Given the description of an element on the screen output the (x, y) to click on. 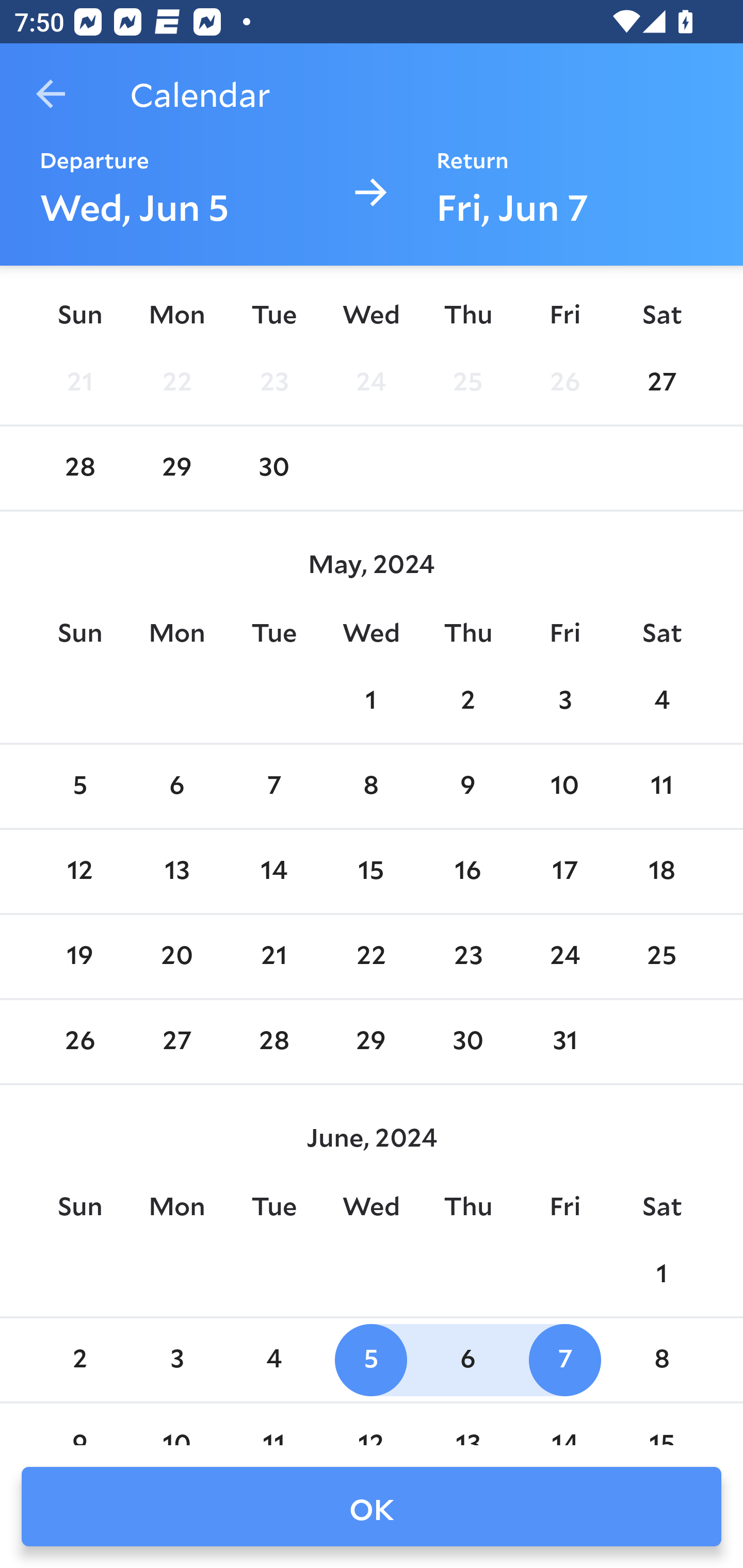
Navigate up (50, 93)
21 (79, 382)
22 (177, 382)
23 (273, 382)
24 (371, 382)
25 (467, 382)
26 (565, 382)
27 (661, 382)
28 (79, 468)
29 (177, 468)
30 (273, 468)
1 (371, 700)
2 (467, 700)
3 (565, 700)
4 (661, 700)
5 (79, 787)
6 (177, 787)
7 (273, 787)
8 (371, 787)
9 (467, 787)
10 (565, 787)
11 (661, 787)
12 (79, 871)
13 (177, 871)
14 (273, 871)
15 (371, 871)
16 (467, 871)
17 (565, 871)
18 (661, 871)
19 (79, 956)
20 (177, 956)
21 (273, 956)
22 (371, 956)
23 (467, 956)
24 (565, 956)
25 (661, 956)
26 (79, 1041)
27 (177, 1041)
28 (273, 1041)
29 (371, 1041)
30 (467, 1041)
31 (565, 1041)
1 (661, 1274)
2 (79, 1359)
3 (177, 1359)
4 (273, 1359)
5 (371, 1359)
6 (467, 1359)
7 (565, 1359)
8 (661, 1359)
